Given the description of an element on the screen output the (x, y) to click on. 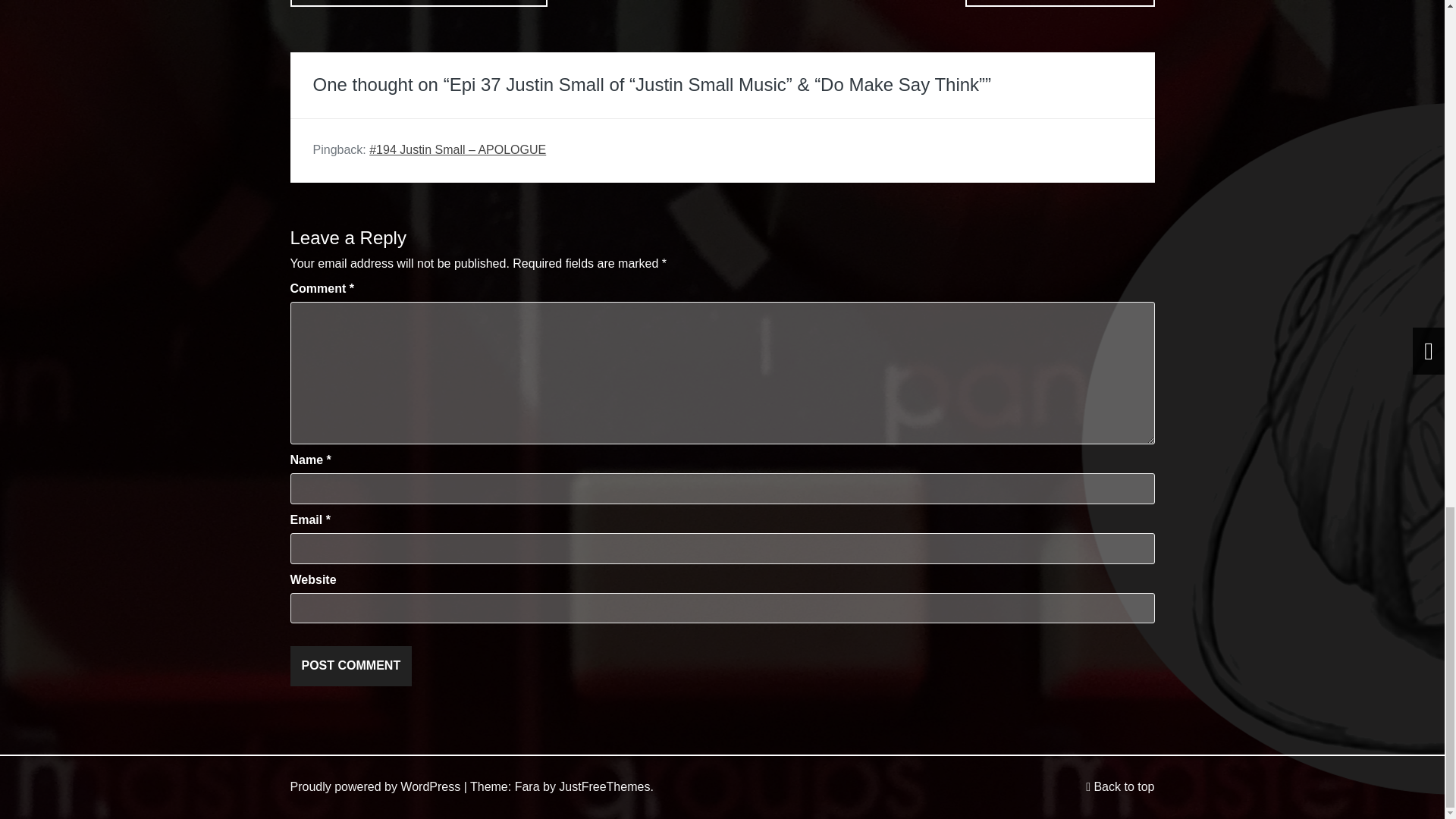
Post Comment (350, 666)
 Back to top (1120, 787)
